Given the description of an element on the screen output the (x, y) to click on. 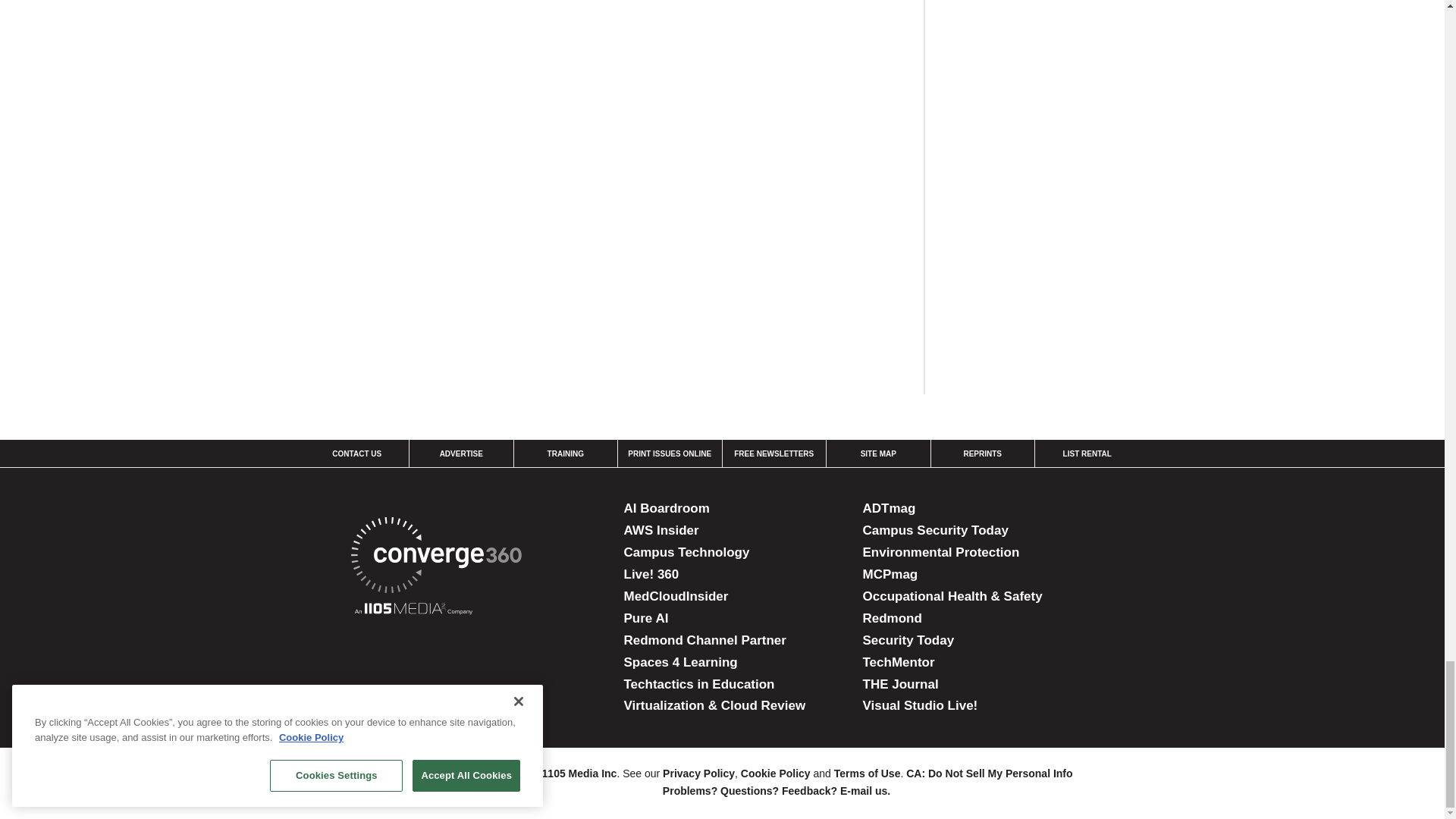
3rd party ad content (1059, 261)
3rd party ad content (1059, 64)
